Given the description of an element on the screen output the (x, y) to click on. 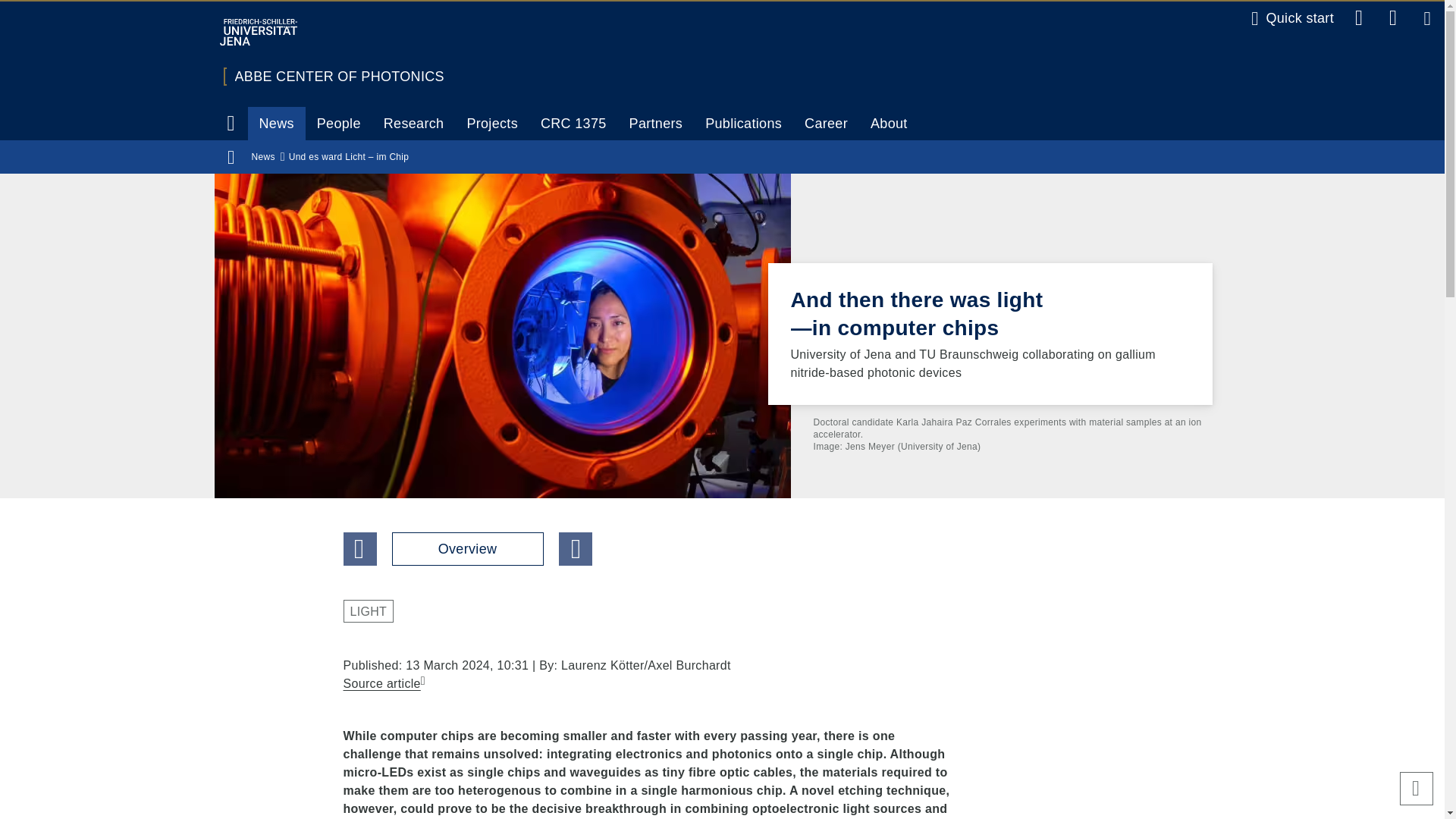
News (275, 123)
Overview (467, 548)
News (262, 156)
Login (1427, 18)
ABBE CENTER OF PHOTONICS (339, 75)
Source article (383, 682)
Publications (743, 123)
About (888, 123)
Previous entry (358, 548)
Next entry (574, 548)
